Given the description of an element on the screen output the (x, y) to click on. 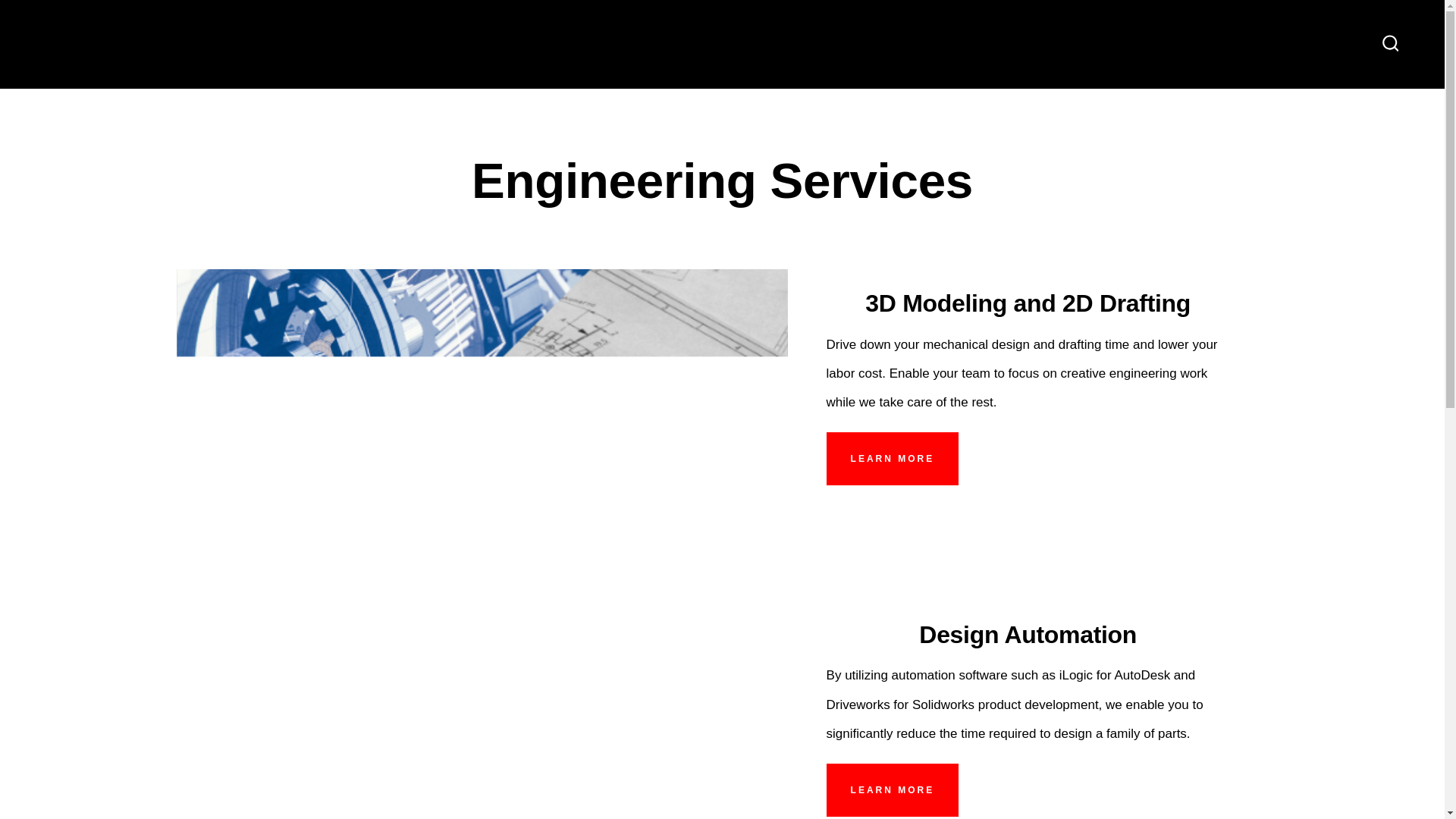
BLOG (1321, 33)
ENGINEERING SERVICES (438, 33)
CONTACT US (1297, 55)
ABOUT US (1188, 55)
MACHINE SHOP SOLUTIONS (884, 33)
GEMBA AUTOMATION (147, 43)
CAD VIEWER (1228, 33)
LEARN MORE (893, 458)
MANUFACTURING AUTOMATION (656, 33)
SEARCH TOGGLE (1390, 44)
